Given the description of an element on the screen output the (x, y) to click on. 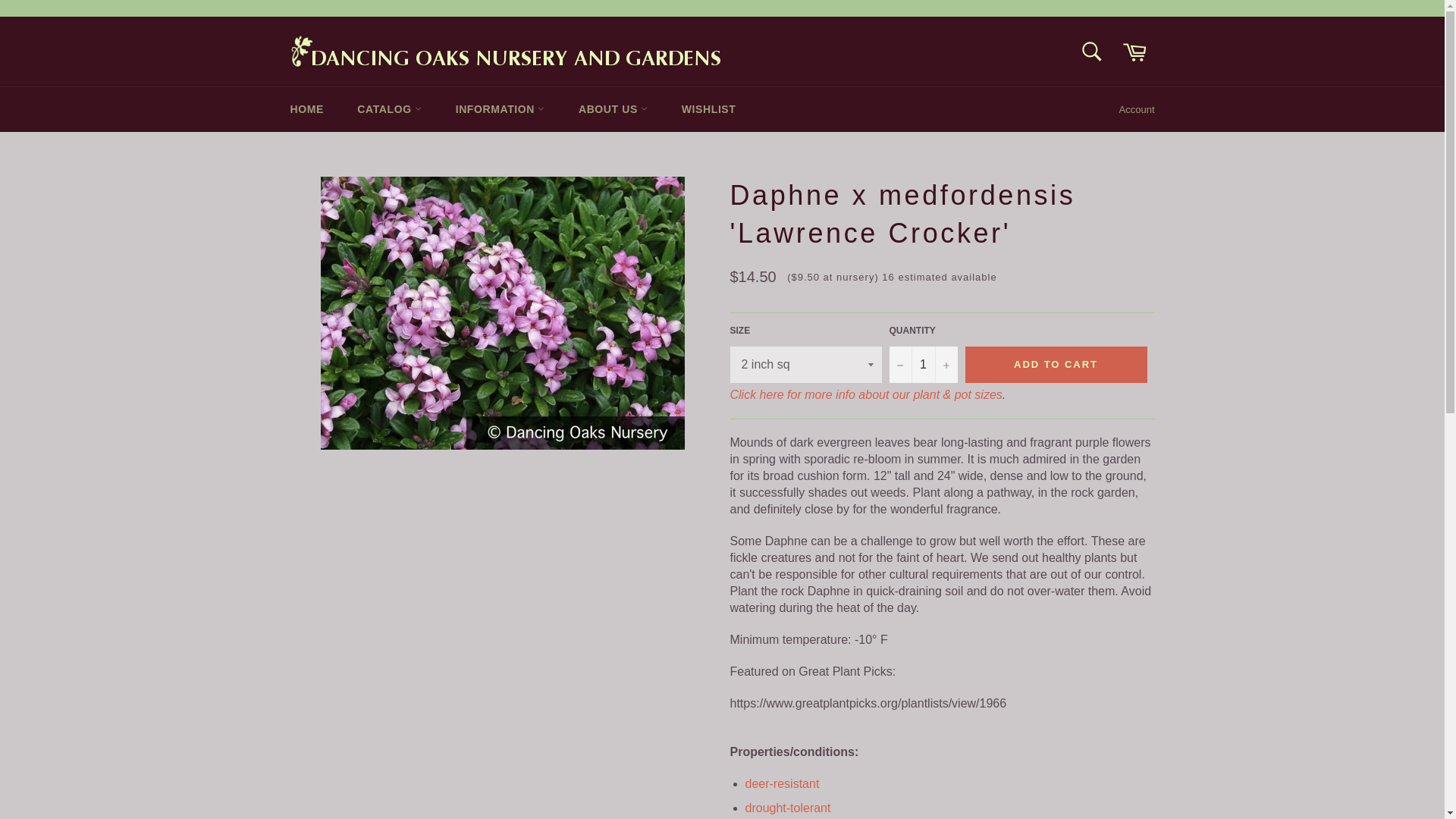
CATALOG (389, 108)
Cart (1134, 51)
Search (1091, 51)
1 (922, 364)
HOME (306, 108)
